Given the description of an element on the screen output the (x, y) to click on. 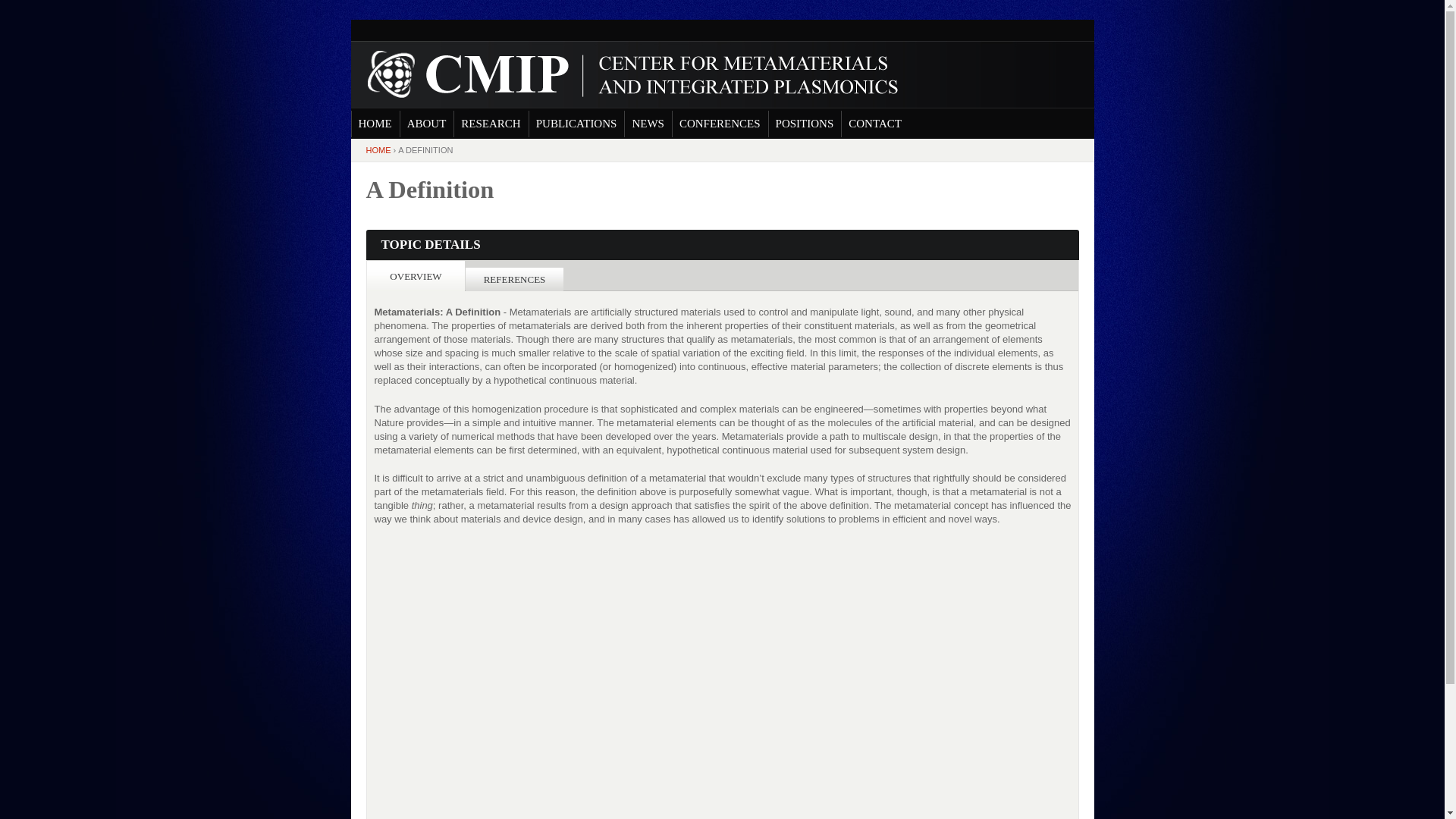
CONTACT (874, 124)
Contact (874, 124)
HOME (377, 149)
Conferences (719, 124)
PUBLICATIONS (576, 124)
NEWS (647, 124)
CONFERENCES (719, 124)
News (647, 124)
Research (489, 124)
Publications (576, 124)
Home (624, 73)
HOME (374, 124)
RESEARCH (489, 124)
Positions (804, 124)
OVERVIEW (415, 276)
